Given the description of an element on the screen output the (x, y) to click on. 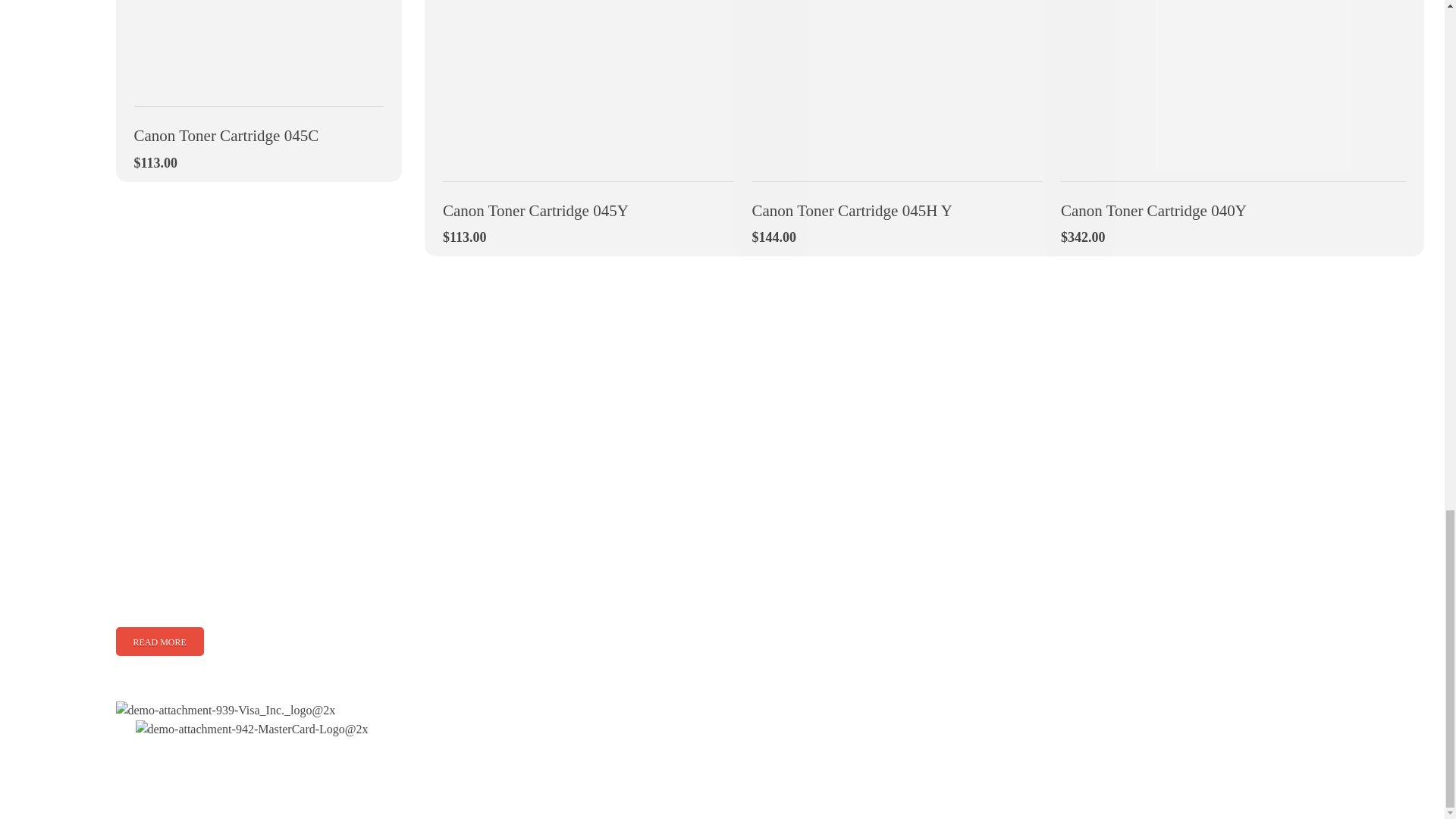
Canon Toner Cartridge 045H Y (924, 200)
Canon Toner Cartridge 045C (258, 126)
Canon Toner Cartridge 045Y (614, 200)
